Given the description of an element on the screen output the (x, y) to click on. 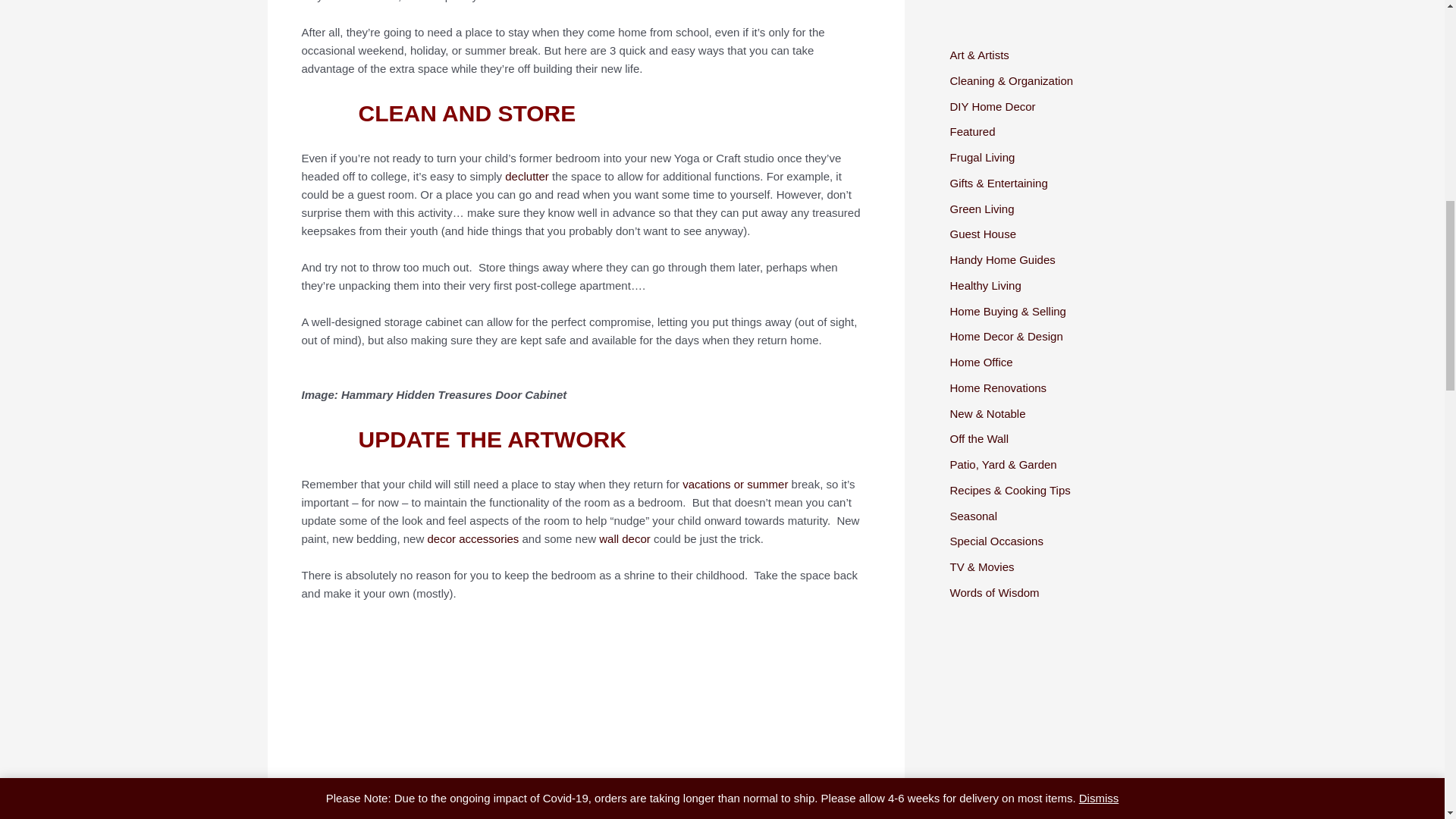
vacations or summer (734, 483)
DIY Home Decor (992, 106)
decor accessories (472, 538)
declutter (526, 175)
wall decor (624, 538)
Featured (971, 131)
